Given the description of an element on the screen output the (x, y) to click on. 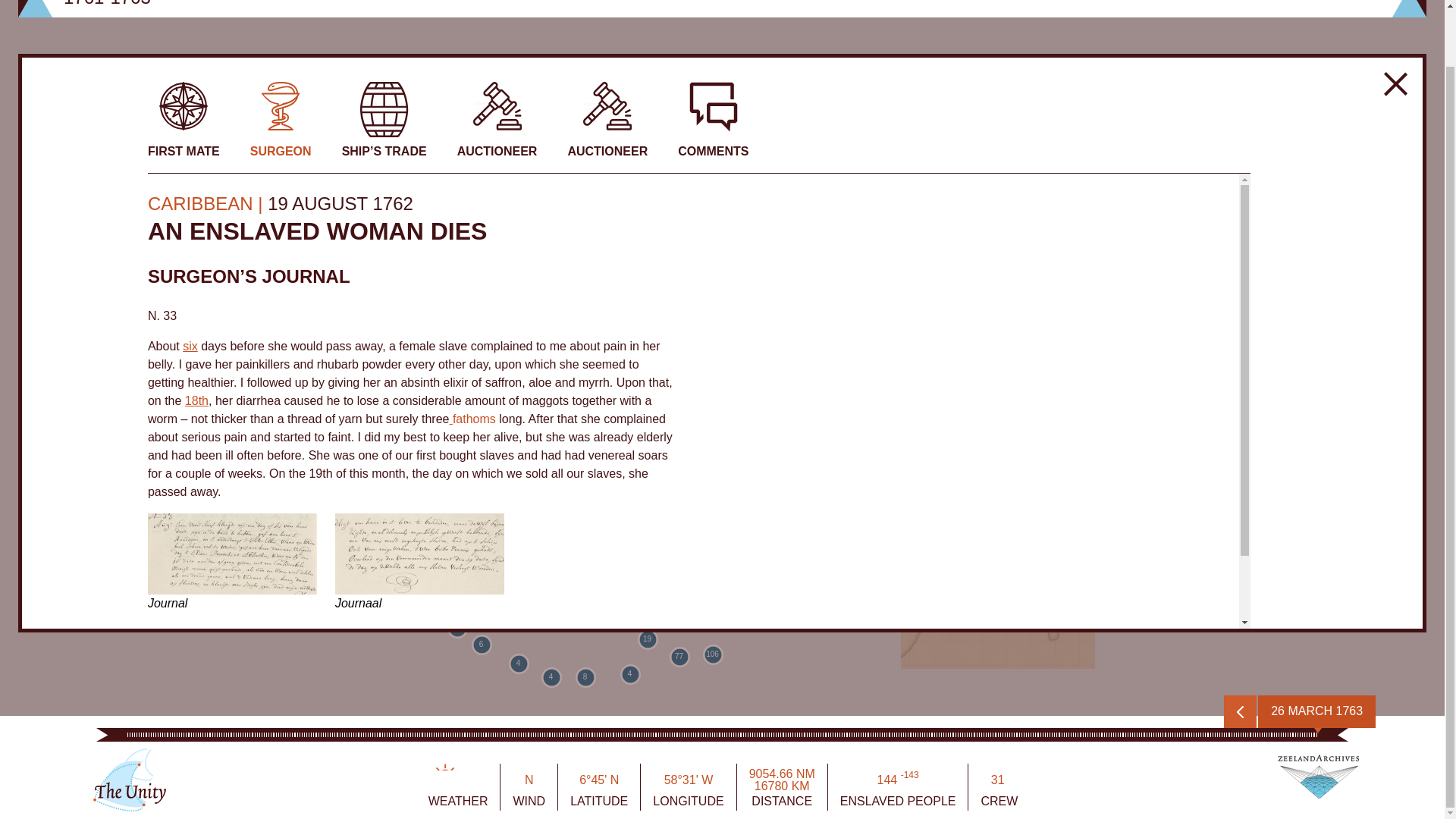
33 messages (262, 685)
13 august 1762 (190, 345)
Previous (1240, 711)
Layers (33, 124)
Zoom in (33, 46)
18 August 1762 (196, 400)
Ship the Unity (126, 807)
Back to the map (1395, 84)
- (33, 85)
